Given the description of an element on the screen output the (x, y) to click on. 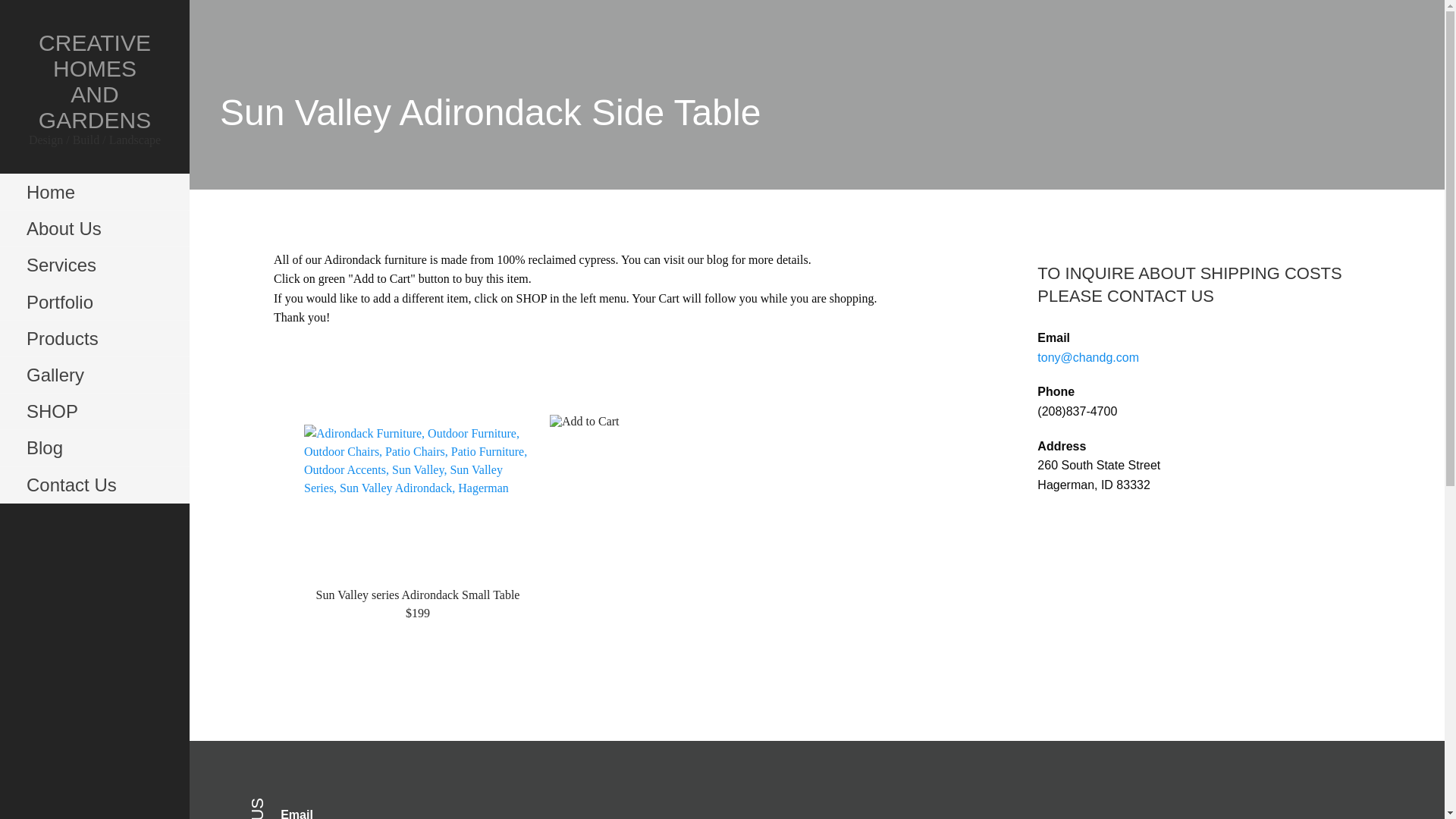
Portfolio (94, 302)
Services (94, 265)
CREATIVE HOMES AND GARDENS (95, 81)
Products (94, 339)
Blog (94, 447)
SHOP (94, 411)
About Us (94, 228)
Gallery (94, 375)
Contact Us (94, 484)
Home (94, 192)
